Given the description of an element on the screen output the (x, y) to click on. 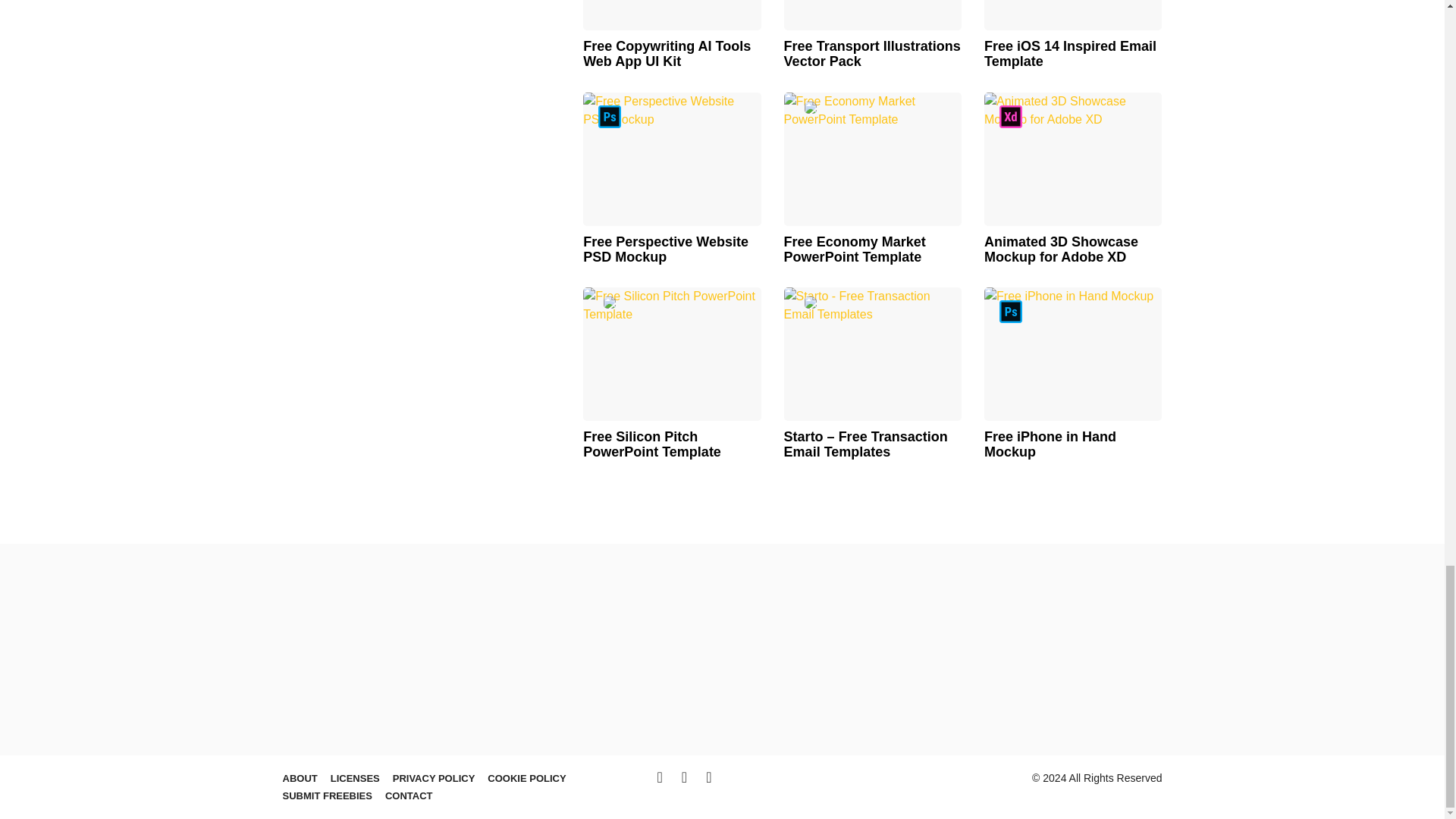
Free iOS 14 Inspired Email Template (1072, 15)
Free Transport Illustrations Vector Pack (872, 15)
Free Copywriting AI Tools Web App UI Kit (671, 15)
